Given the description of an element on the screen output the (x, y) to click on. 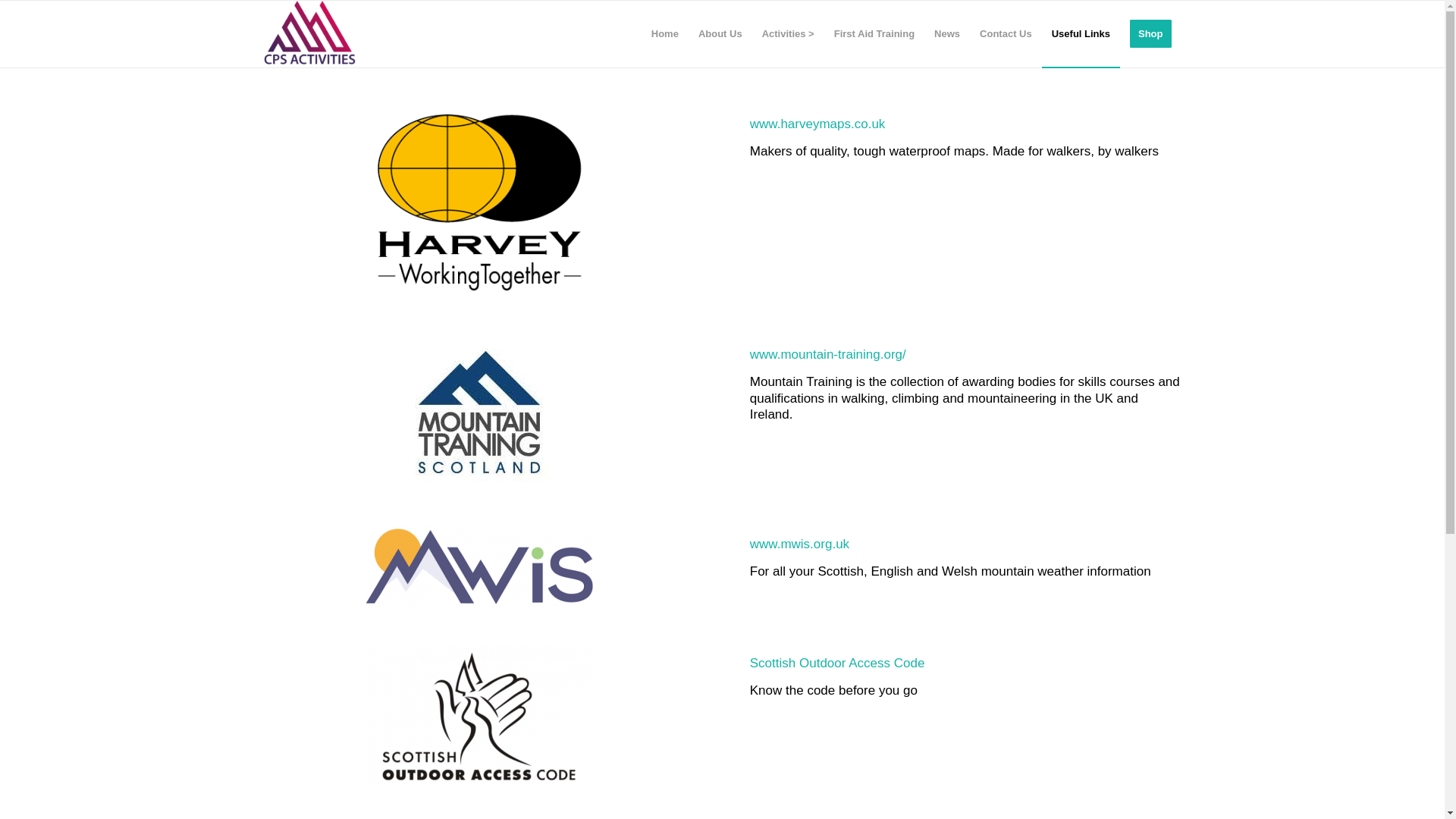
Useful Links (1080, 33)
www.harveymaps.co.uk (817, 124)
First Aid Training (874, 33)
About Us (720, 33)
Mountain Training Scotland (478, 411)
Harvey Maps (478, 201)
www.mwis.org.uk (798, 544)
Contact Us (1005, 33)
MWIS (478, 565)
Outdoor Access Code (478, 715)
